Given the description of an element on the screen output the (x, y) to click on. 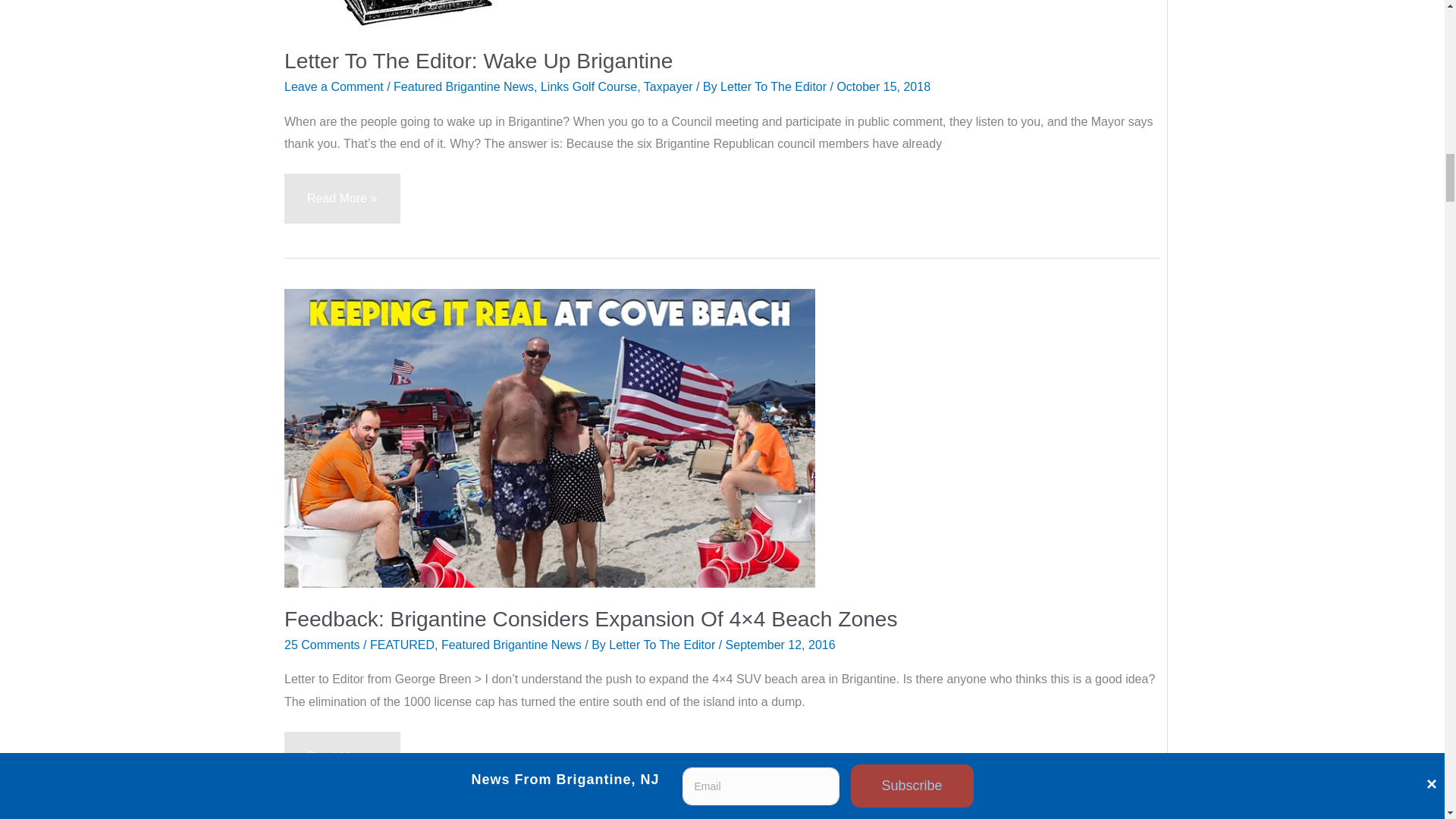
View all posts by Letter To The Editor (662, 644)
View all posts by Letter To The Editor (774, 86)
